Given the description of an element on the screen output the (x, y) to click on. 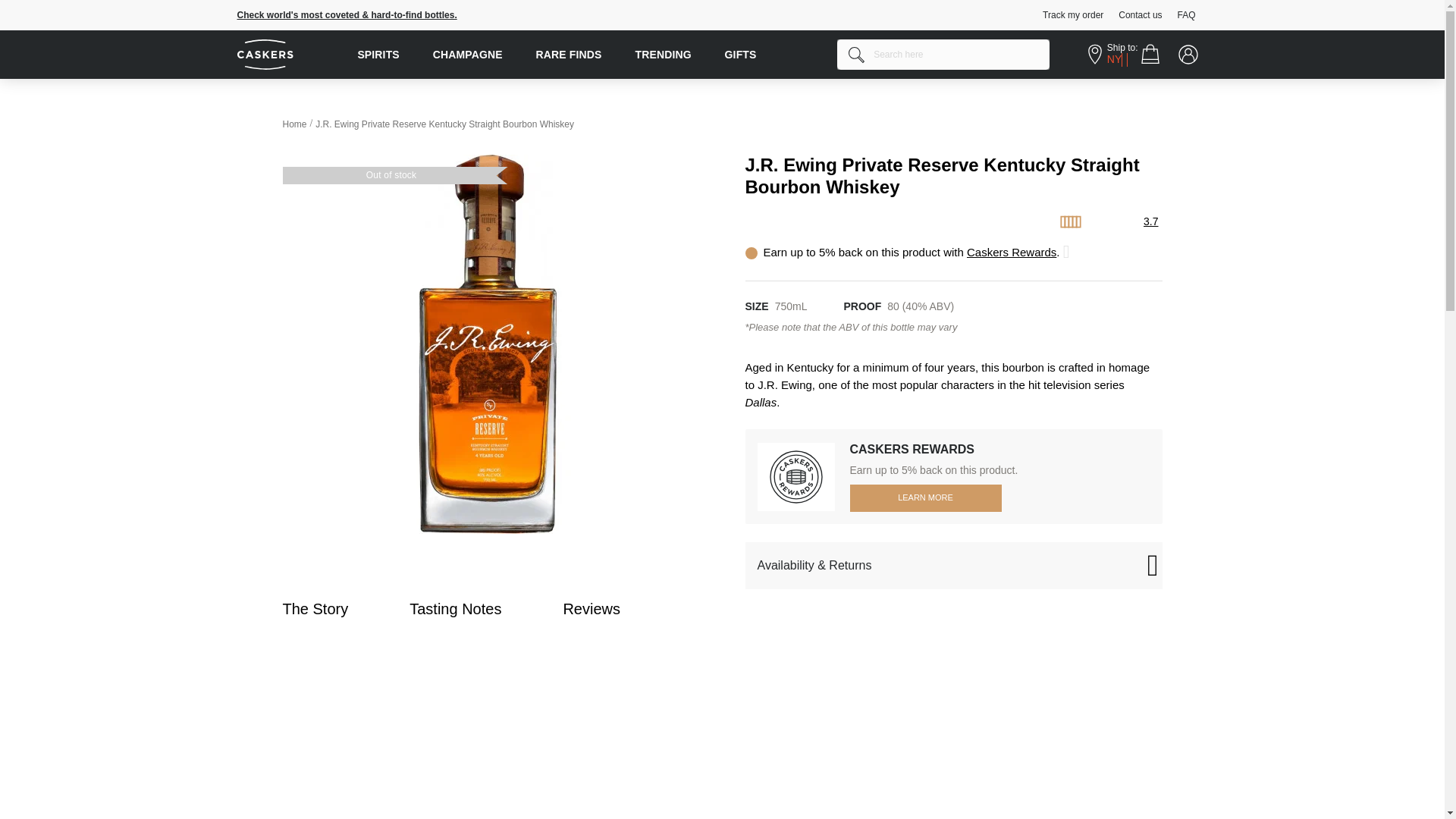
Track my order (1078, 15)
Contact us (1145, 15)
Search (856, 54)
SPIRITS (377, 54)
FAQ (1191, 15)
Take Pride In What You Drink - Caskers (288, 54)
